Given the description of an element on the screen output the (x, y) to click on. 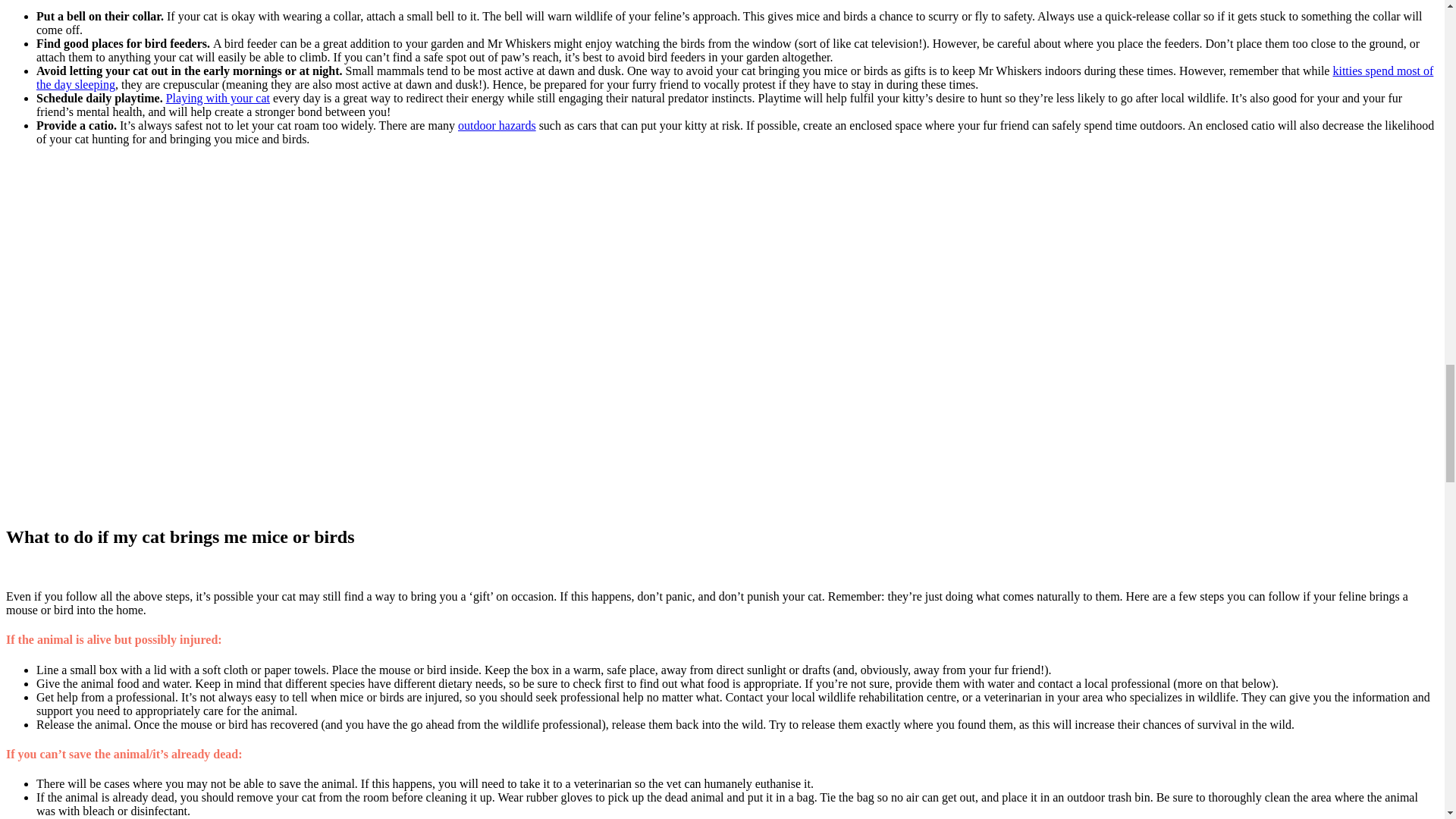
outdoor hazards (496, 124)
Playing with your cat (217, 97)
